Given the description of an element on the screen output the (x, y) to click on. 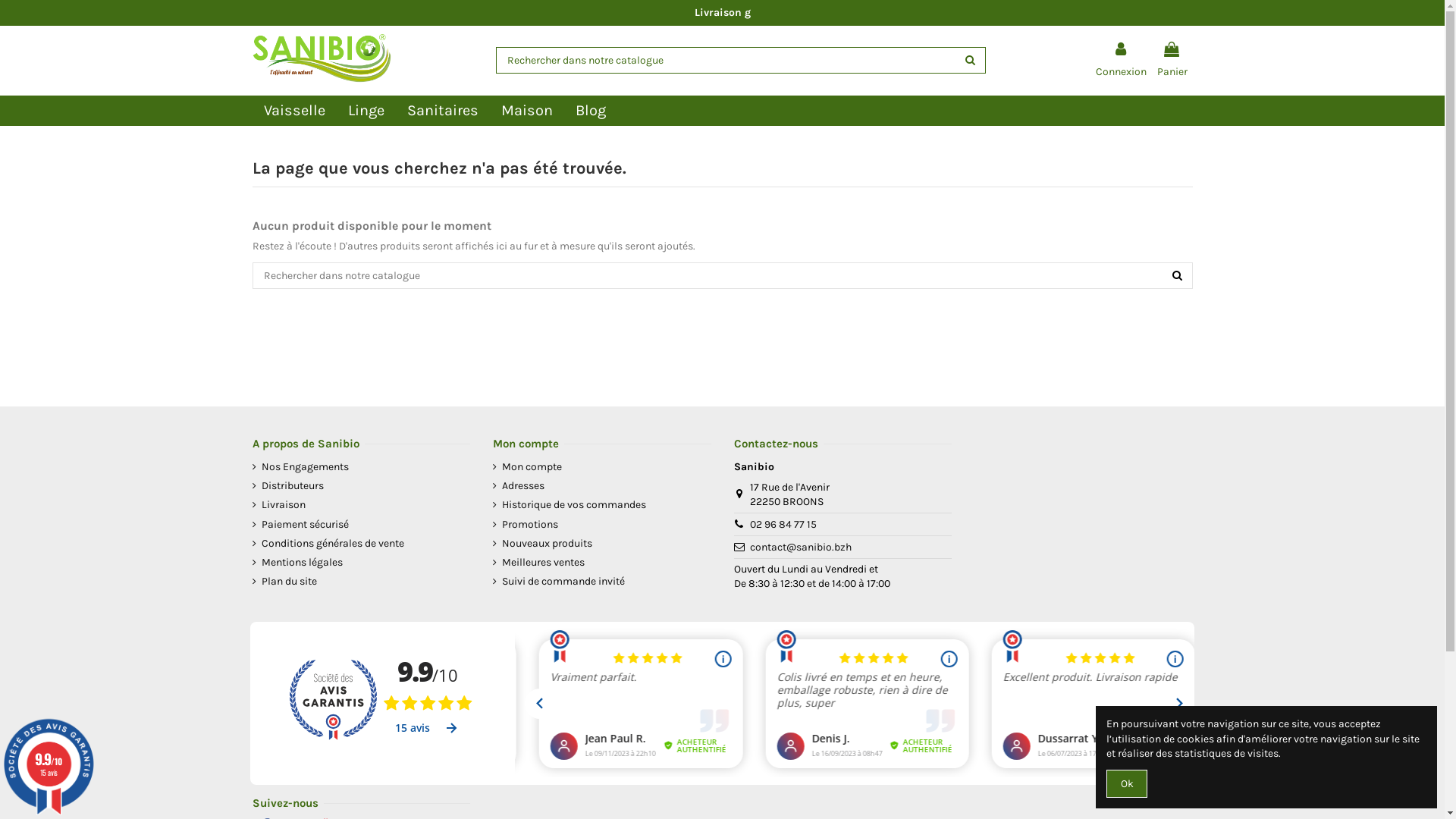
Connexion Element type: text (1120, 59)
Nouveaux produits Element type: text (542, 543)
Sanitaires Element type: text (442, 110)
Adresses Element type: text (518, 485)
Promotions Element type: text (525, 524)
Blog Element type: text (590, 110)
Meilleures ventes Element type: text (538, 562)
Linge Element type: text (365, 110)
Mon compte Element type: text (526, 466)
Nos Engagements Element type: text (299, 466)
contact@sanibio.bzh Element type: text (800, 546)
02 96 84 77 15 Element type: text (782, 523)
Ok Element type: text (1126, 783)
Vaisselle Element type: text (293, 110)
Livraison Element type: text (277, 504)
Maison Element type: text (526, 110)
Distributeurs Element type: text (287, 485)
Plan du site Element type: text (283, 581)
Panier Element type: text (1172, 59)
Historique de vos commandes Element type: text (569, 504)
